Given the description of an element on the screen output the (x, y) to click on. 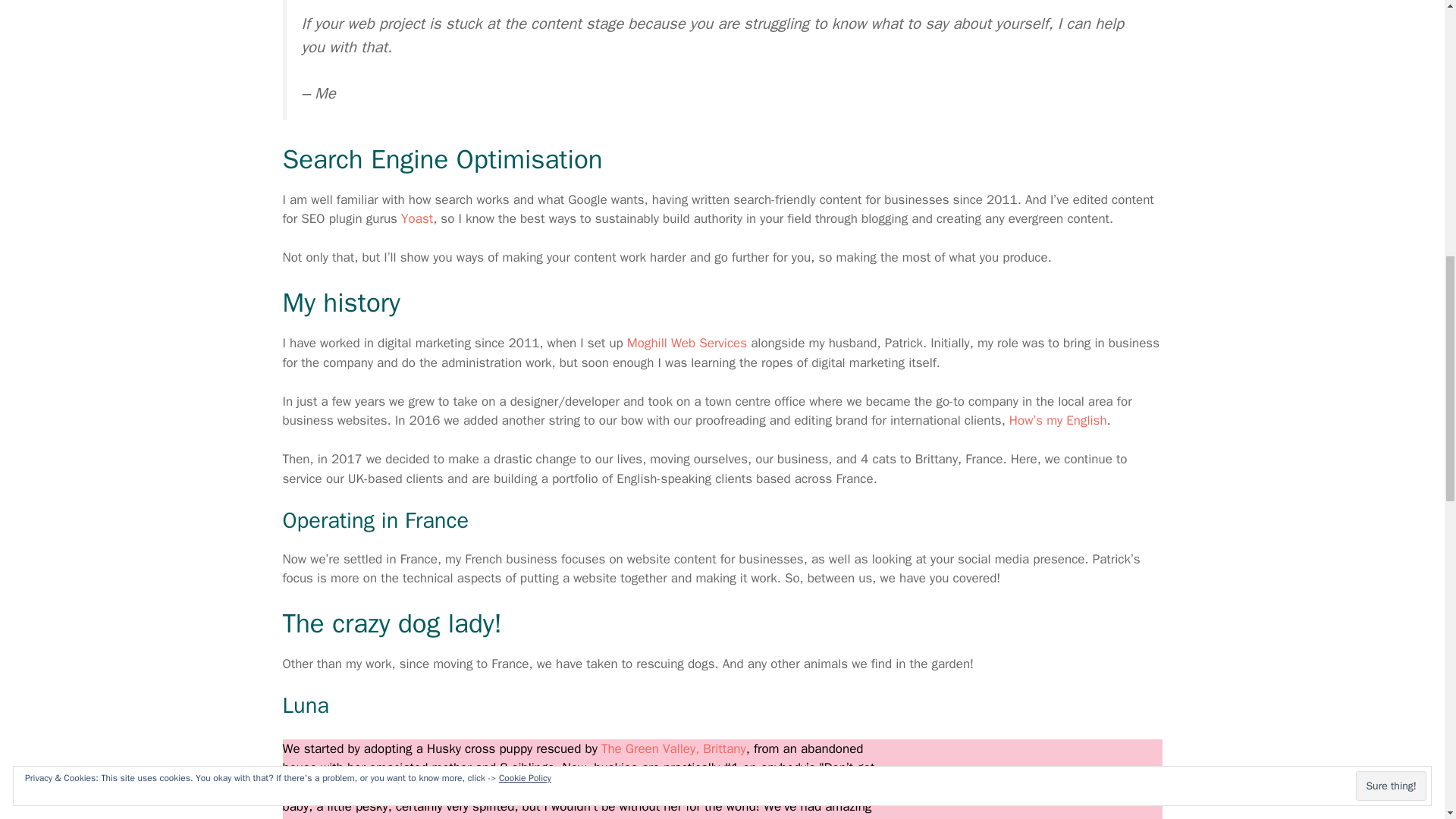
Moghill Web Services (686, 342)
Yoast (416, 218)
The Green Valley, Brittany (673, 747)
Scroll back to top (1406, 720)
